Given the description of an element on the screen output the (x, y) to click on. 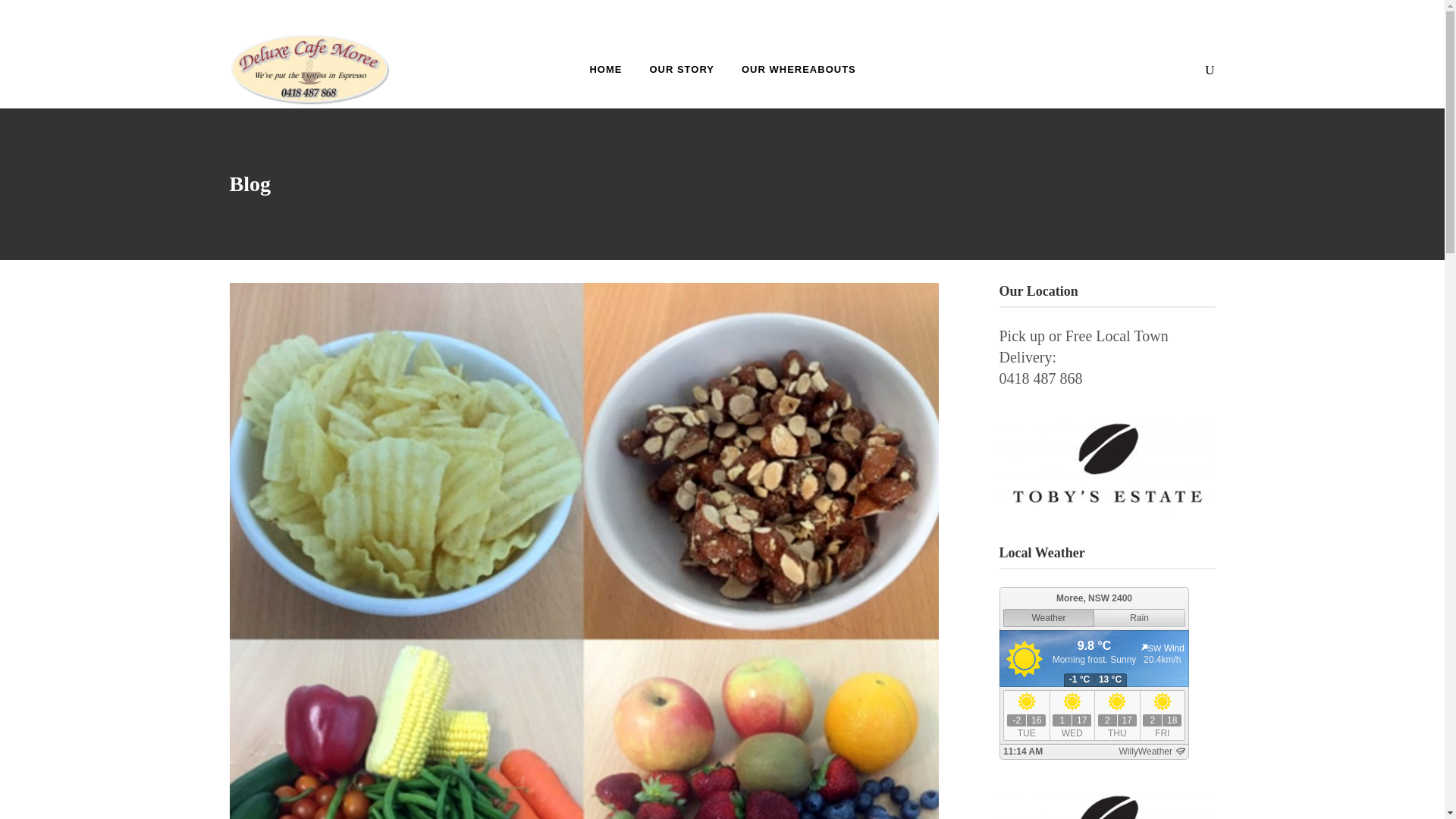
OUR STORY (681, 69)
OUR WHEREABOUTS (798, 69)
U (983, 413)
